Given the description of an element on the screen output the (x, y) to click on. 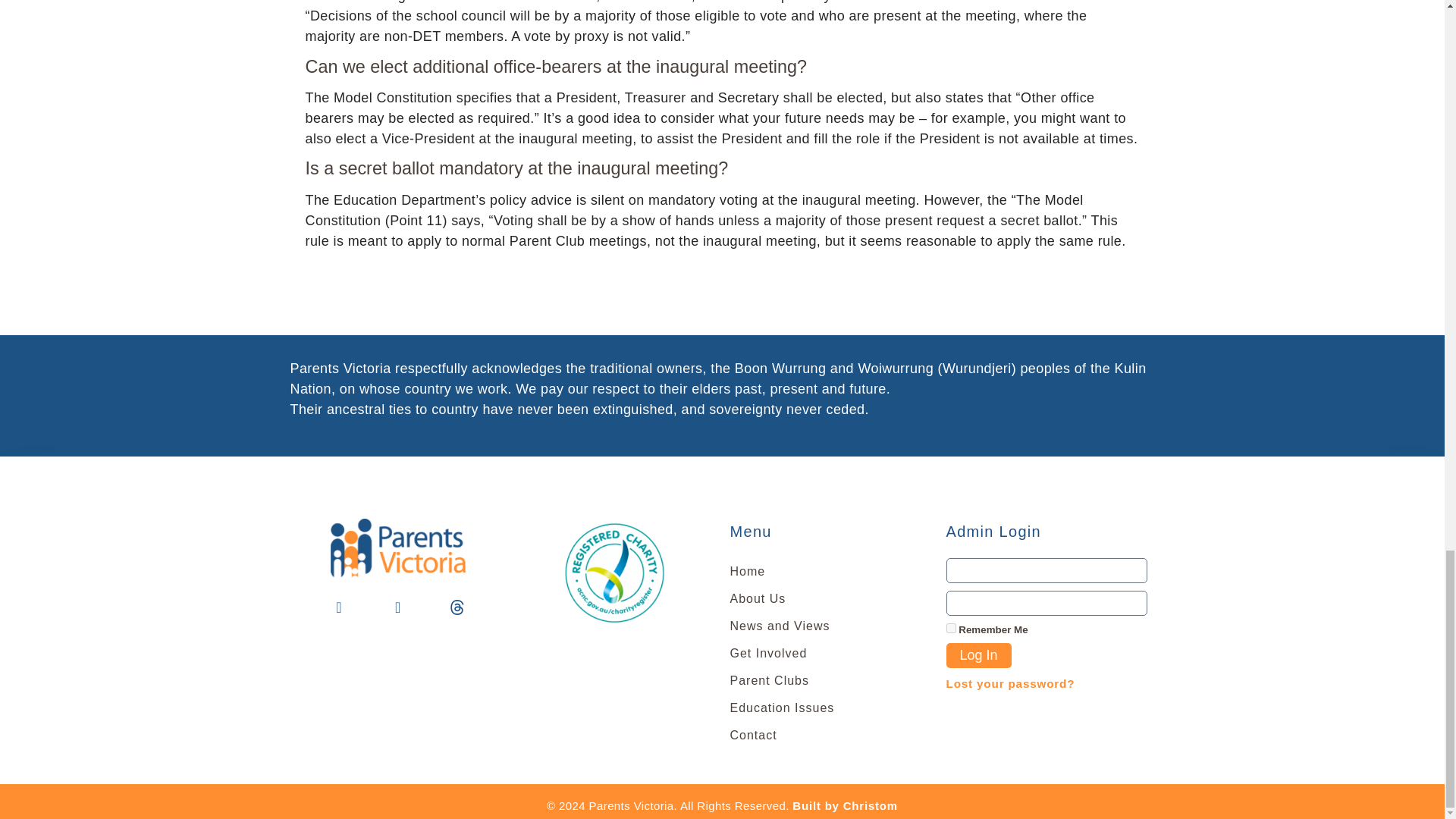
forever (951, 628)
